Given the description of an element on the screen output the (x, y) to click on. 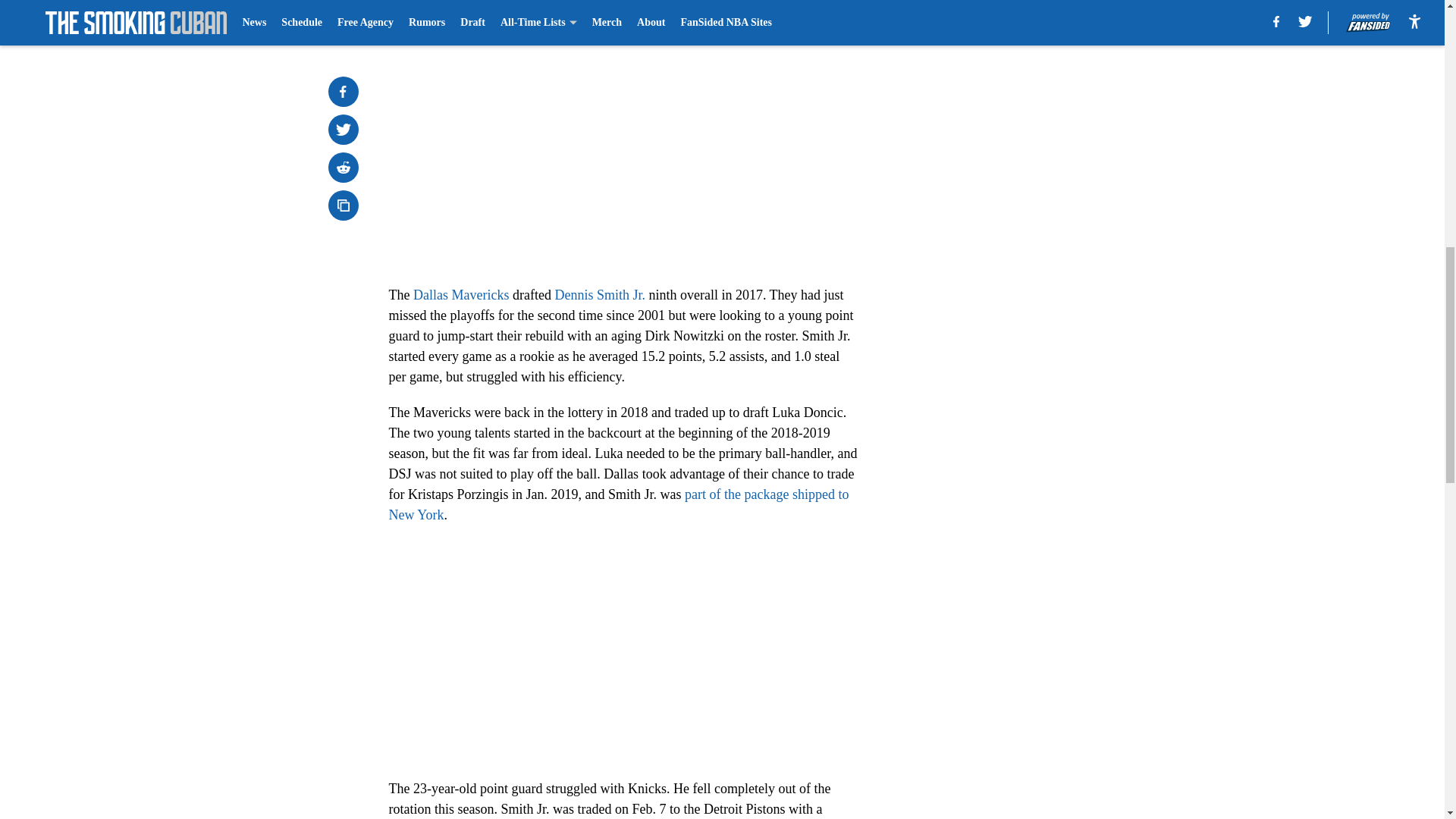
part of the package shipped to New York (618, 504)
Dallas Mavericks (460, 294)
Dennis Smith Jr. (599, 294)
